Given the description of an element on the screen output the (x, y) to click on. 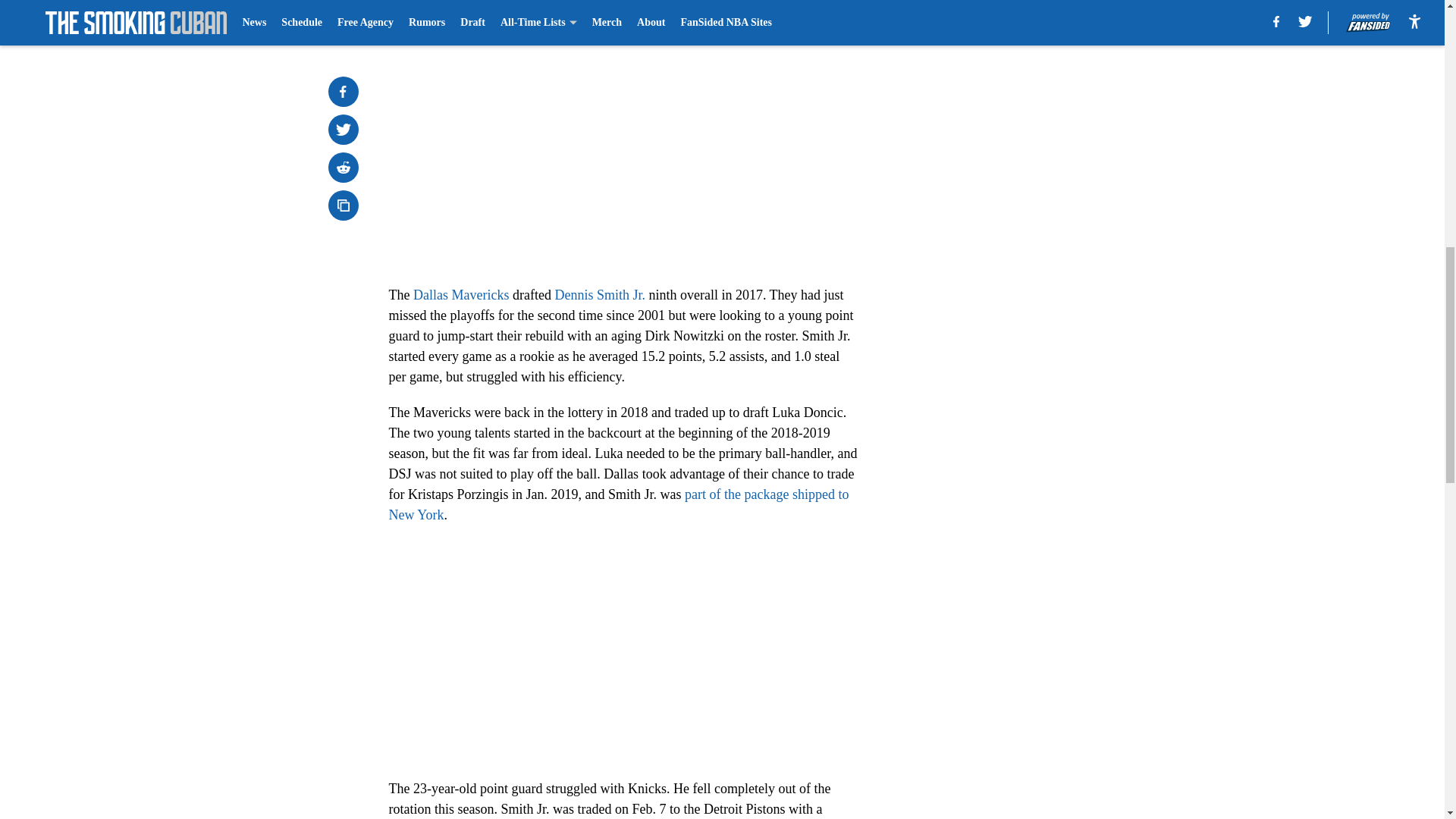
part of the package shipped to New York (618, 504)
Dallas Mavericks (460, 294)
Dennis Smith Jr. (599, 294)
